Given the description of an element on the screen output the (x, y) to click on. 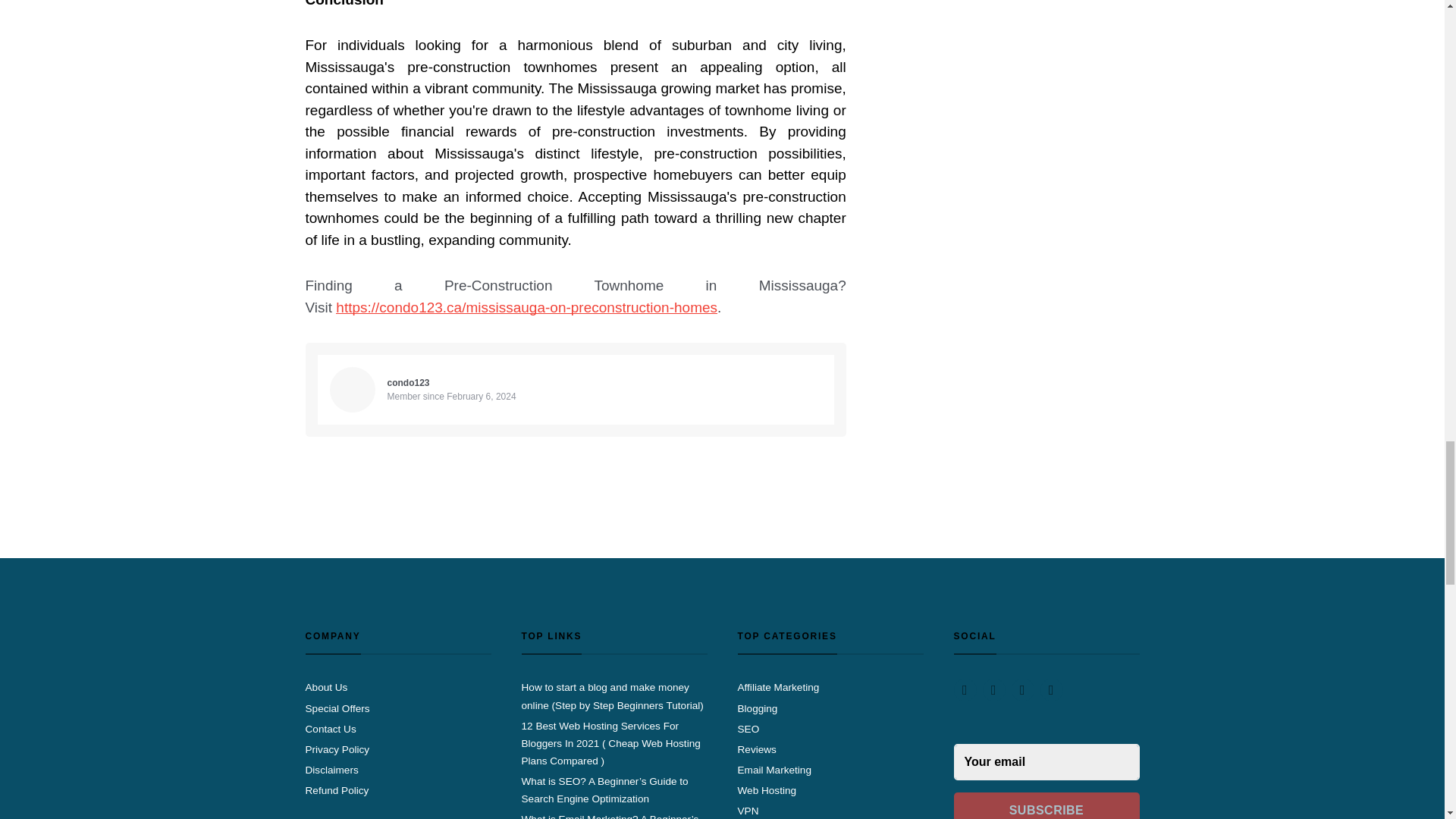
condo123 (408, 382)
